Given the description of an element on the screen output the (x, y) to click on. 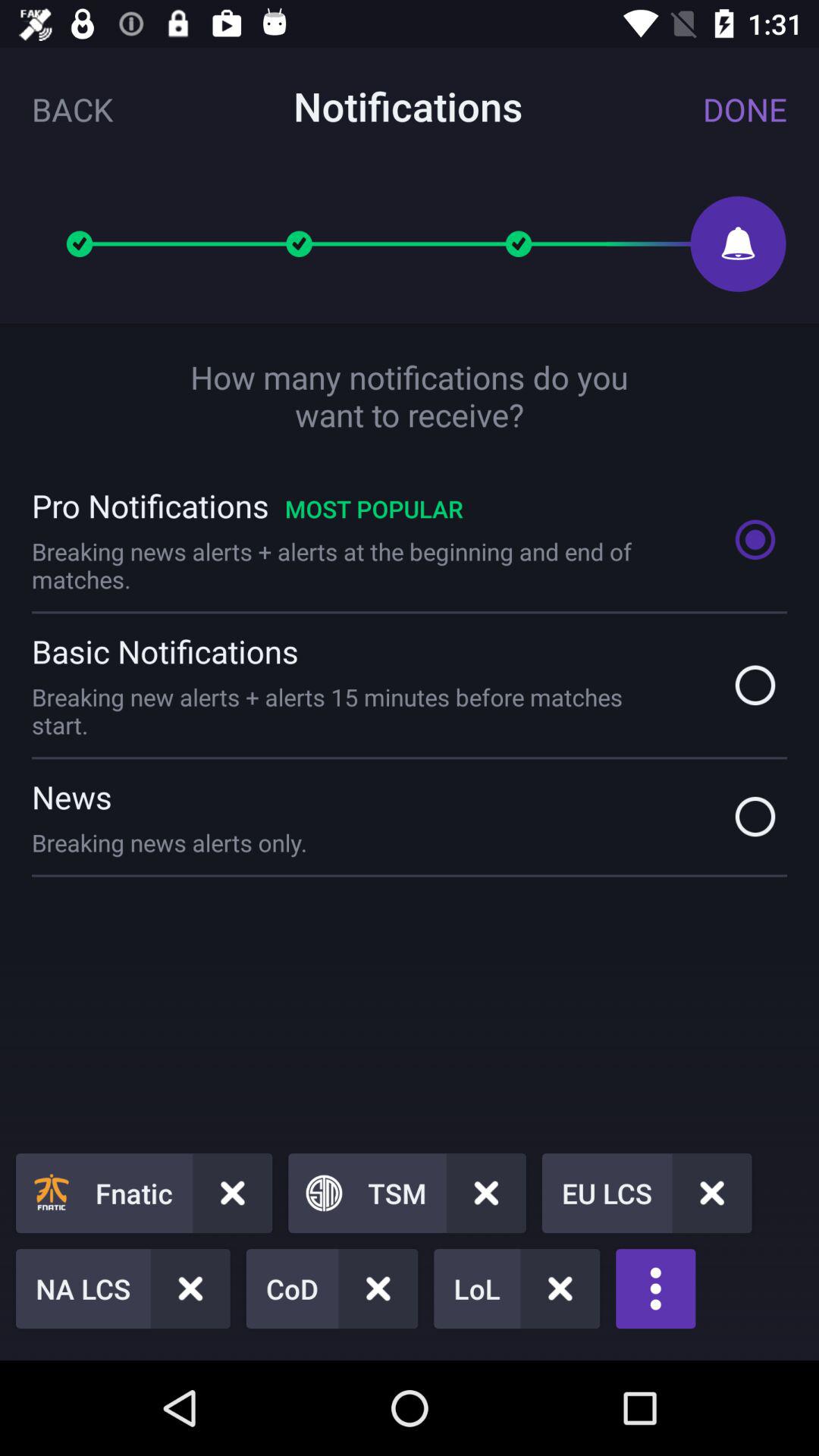
click on done (744, 109)
click on the fnatic icon (51, 1193)
click on the option fnatic (143, 1193)
click on cross mark button right to fnatic (231, 1193)
click on the button having the text na lcs along with the cross mark button (122, 1289)
